Given the description of an element on the screen output the (x, y) to click on. 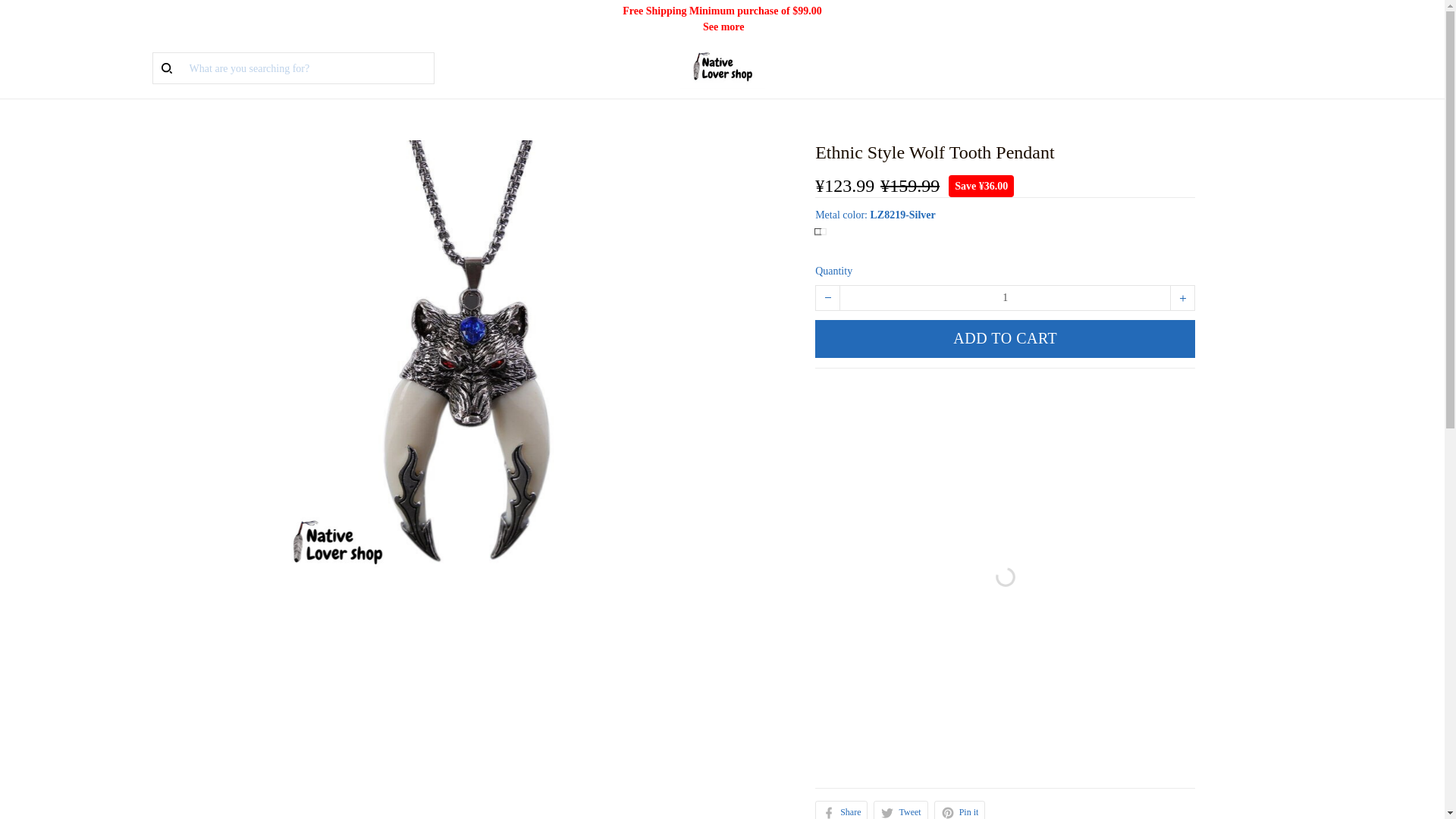
Tweet (900, 809)
Share on Facebook (841, 809)
1 (1005, 297)
Pin on Pinterest (959, 809)
Pin it (959, 809)
Share on Twitter (900, 809)
ADD TO CART (1005, 338)
See more (723, 26)
Share (841, 809)
